Given the description of an element on the screen output the (x, y) to click on. 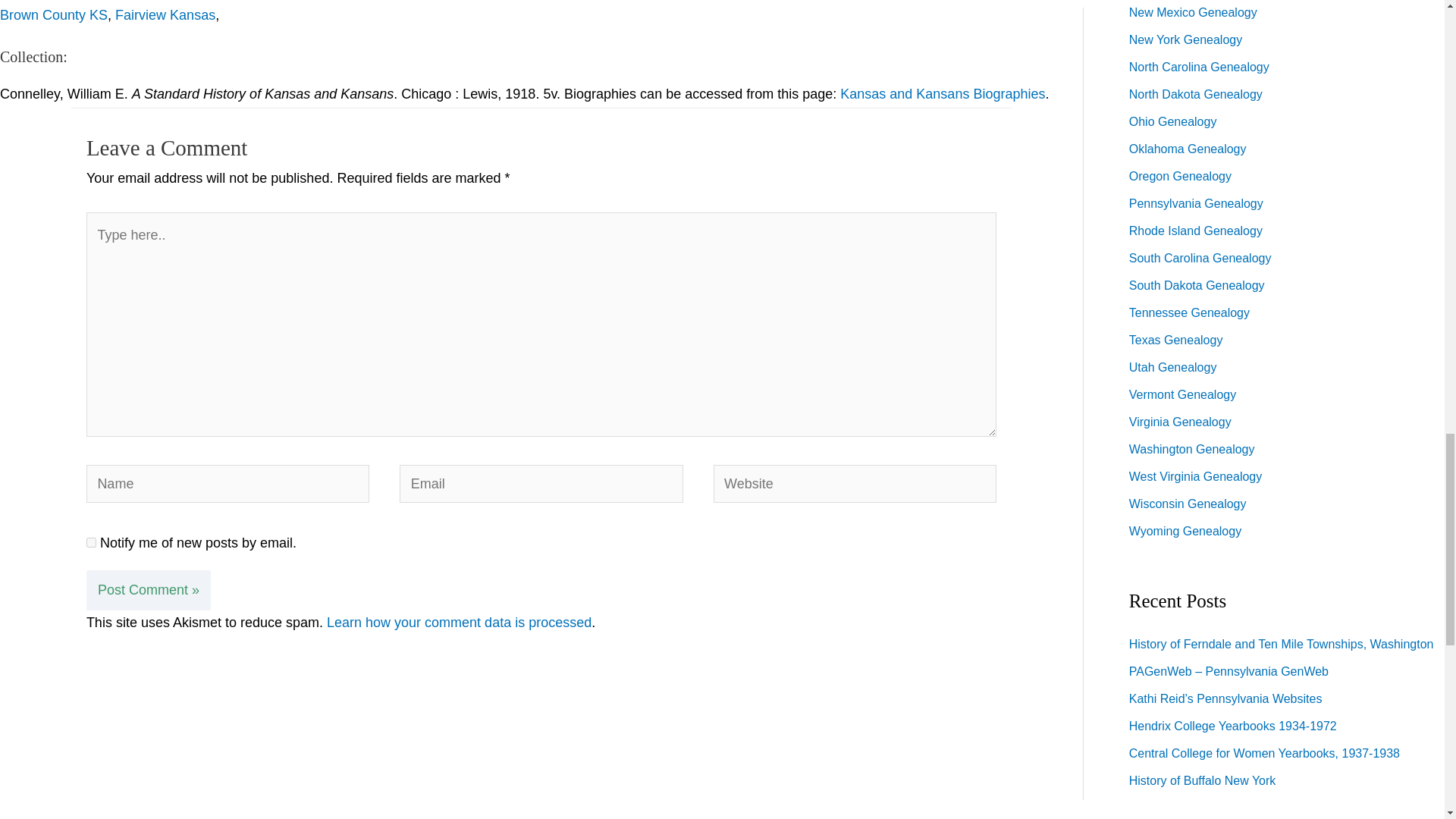
Kansas and Kansans Biographies (942, 93)
Fairview Kansas (165, 14)
Kansas and Kansans Biographies (942, 93)
subscribe (90, 542)
Brown County KS (53, 14)
Learn how your comment data is processed (458, 622)
